Given the description of an element on the screen output the (x, y) to click on. 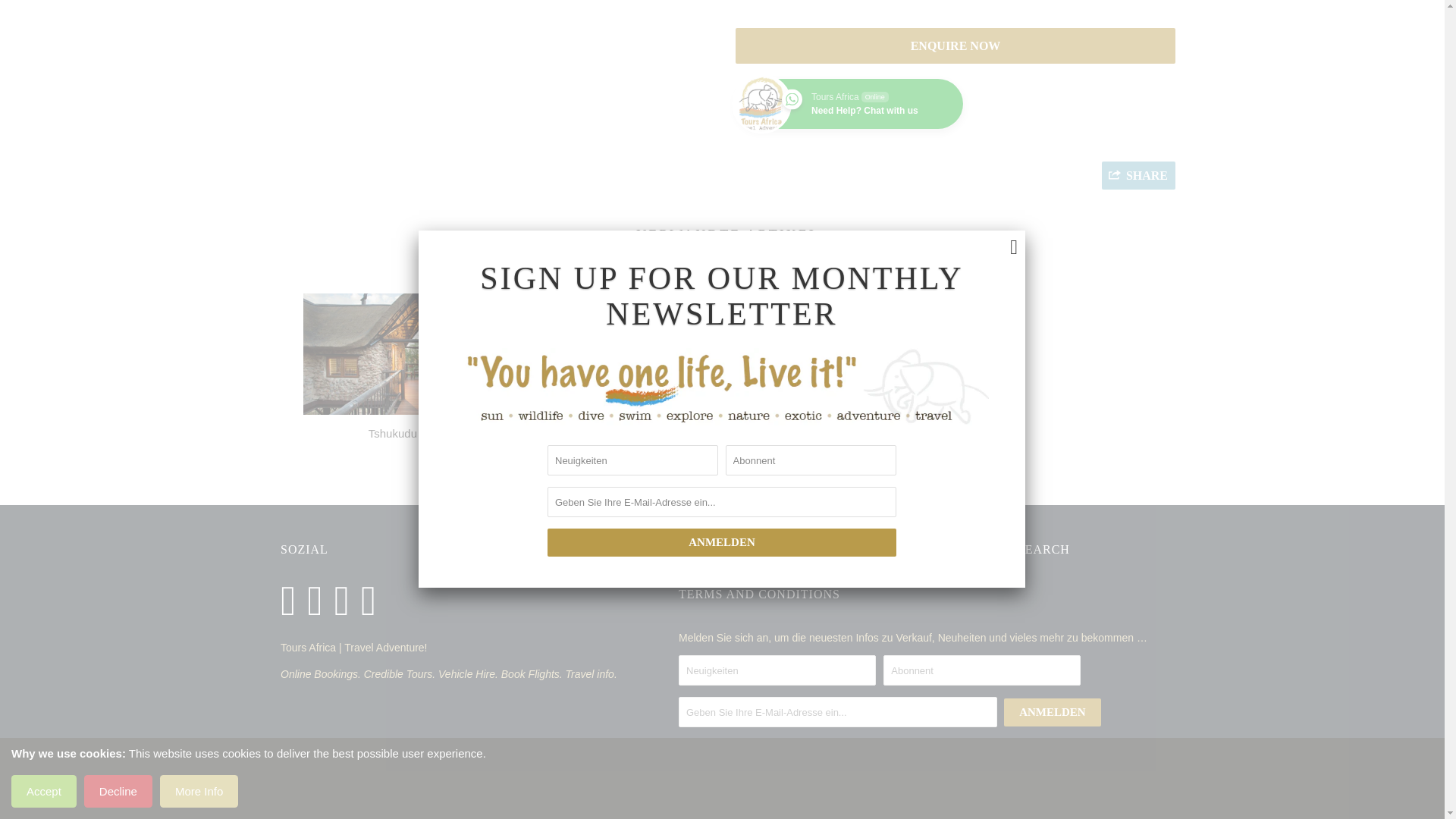
Anmelden (721, 115)
